Given the description of an element on the screen output the (x, y) to click on. 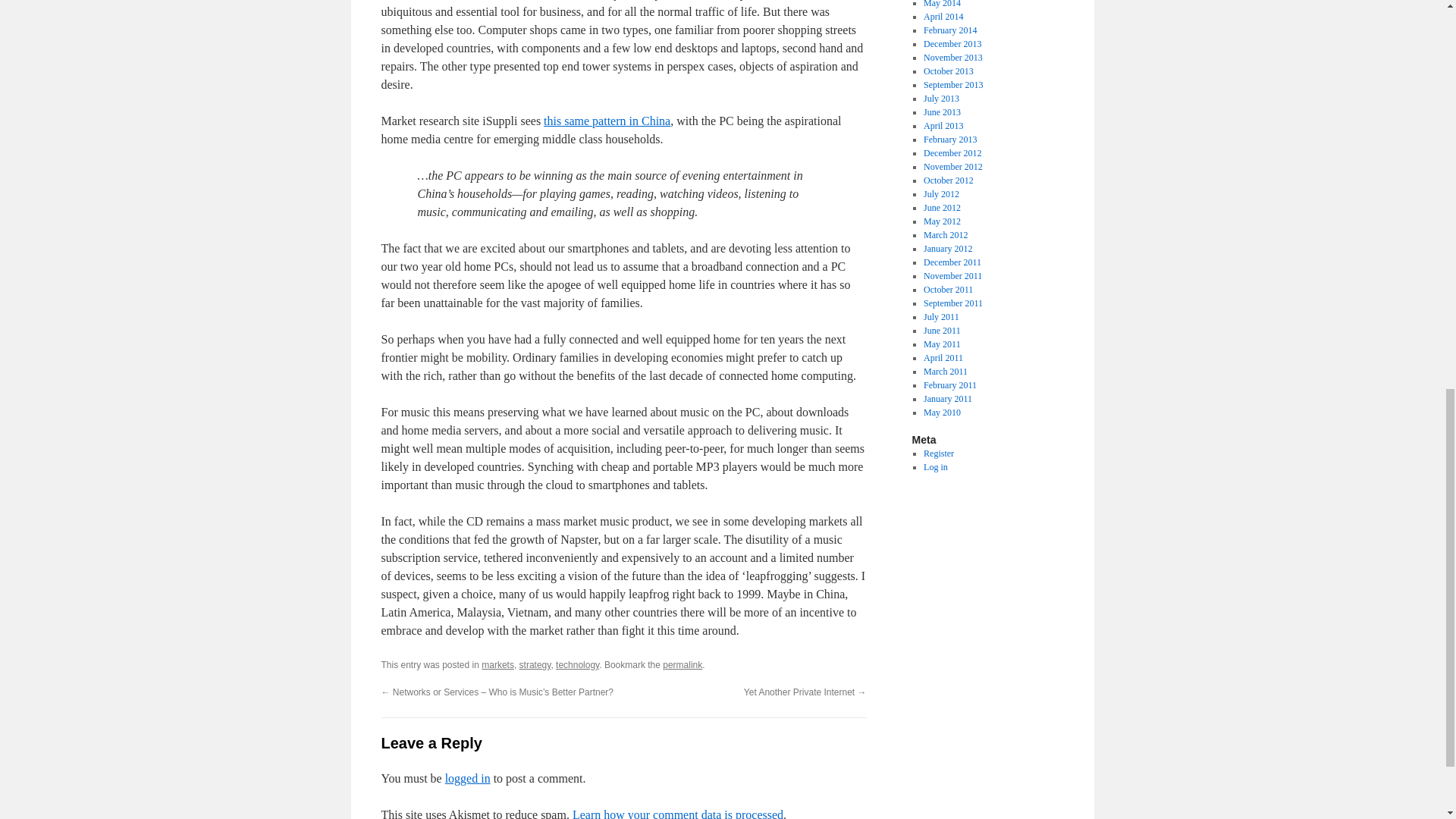
Learn how your comment data is processed (677, 813)
markets (497, 665)
strategy (535, 665)
logged in (467, 778)
permalink (681, 665)
this same pattern in China (606, 120)
technology (577, 665)
